Given the description of an element on the screen output the (x, y) to click on. 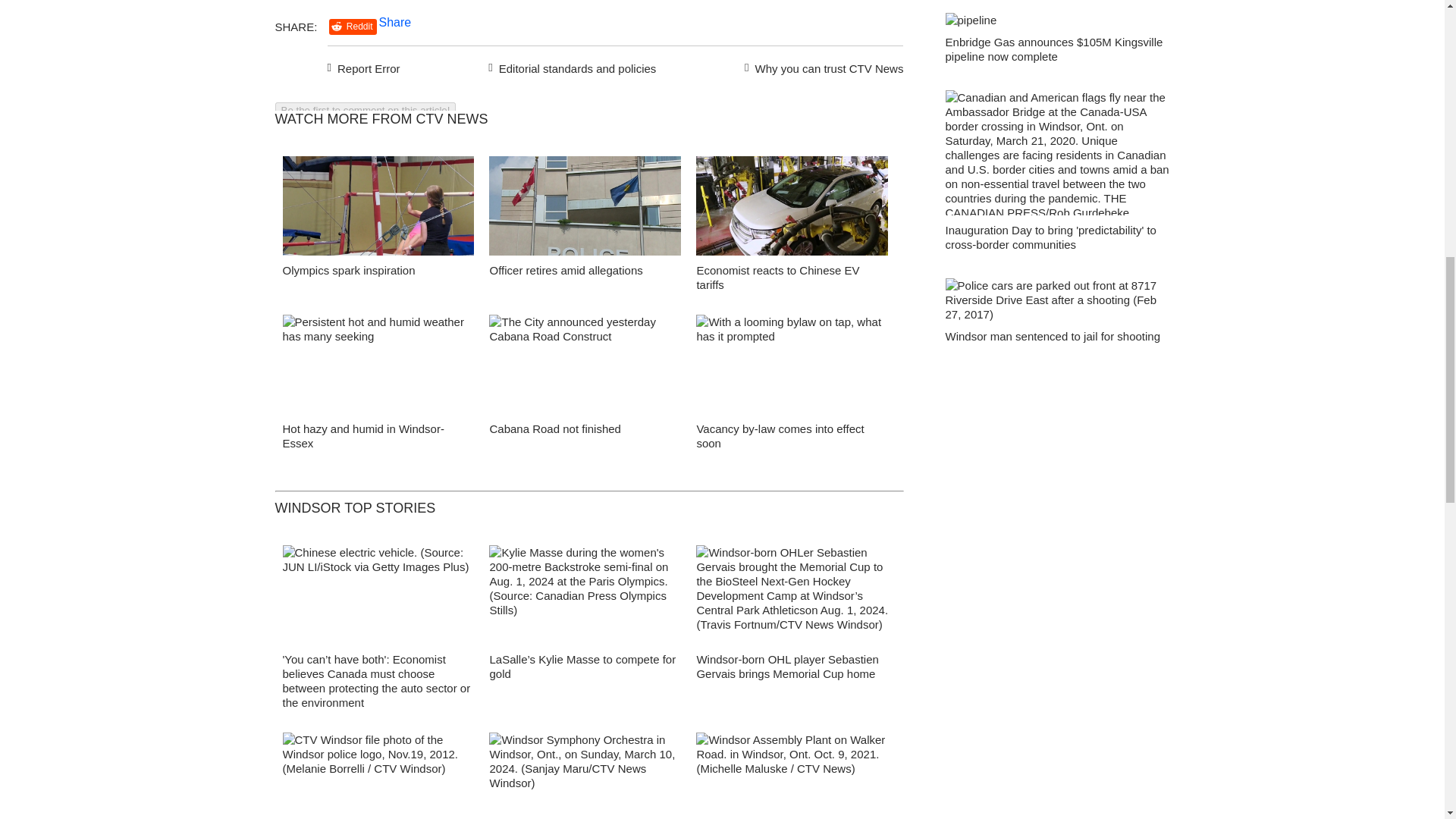
Windsor police logo (378, 775)
Economist reacts to Chinese EV tariffs (777, 277)
Be the first to comment on this article! (365, 109)
Windsor Assembly Plant (791, 775)
Share (395, 21)
Cabana Road not finished (554, 428)
Report Error (363, 66)
With a looming bylaw on tap, what has it prompted  (791, 368)
Windsor Symphony Orchestra  (585, 775)
false (378, 364)
false (791, 205)
false (791, 364)
false (378, 205)
A local economist gives his thoughts on tariffs on (791, 209)
false (585, 205)
